Given the description of an element on the screen output the (x, y) to click on. 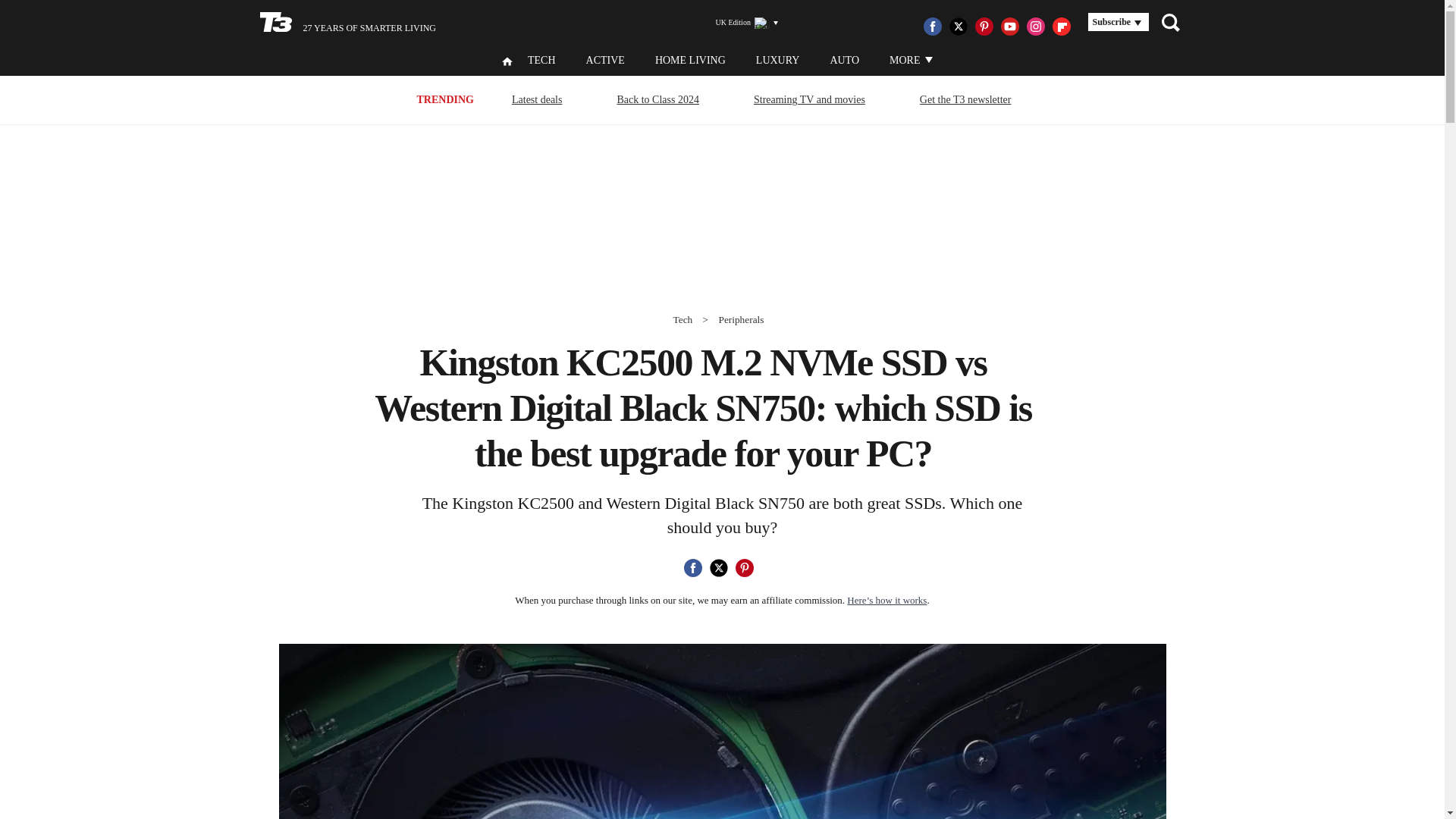
HOME LIVING (690, 60)
ACTIVE (605, 60)
Back to Class 2024 (657, 99)
27 YEARS OF SMARTER LIVING (347, 23)
UK Edition (740, 22)
TECH (541, 60)
Latest deals (536, 99)
AUTO (844, 60)
Streaming TV and movies (809, 99)
LUXURY (777, 60)
